Given the description of an element on the screen output the (x, y) to click on. 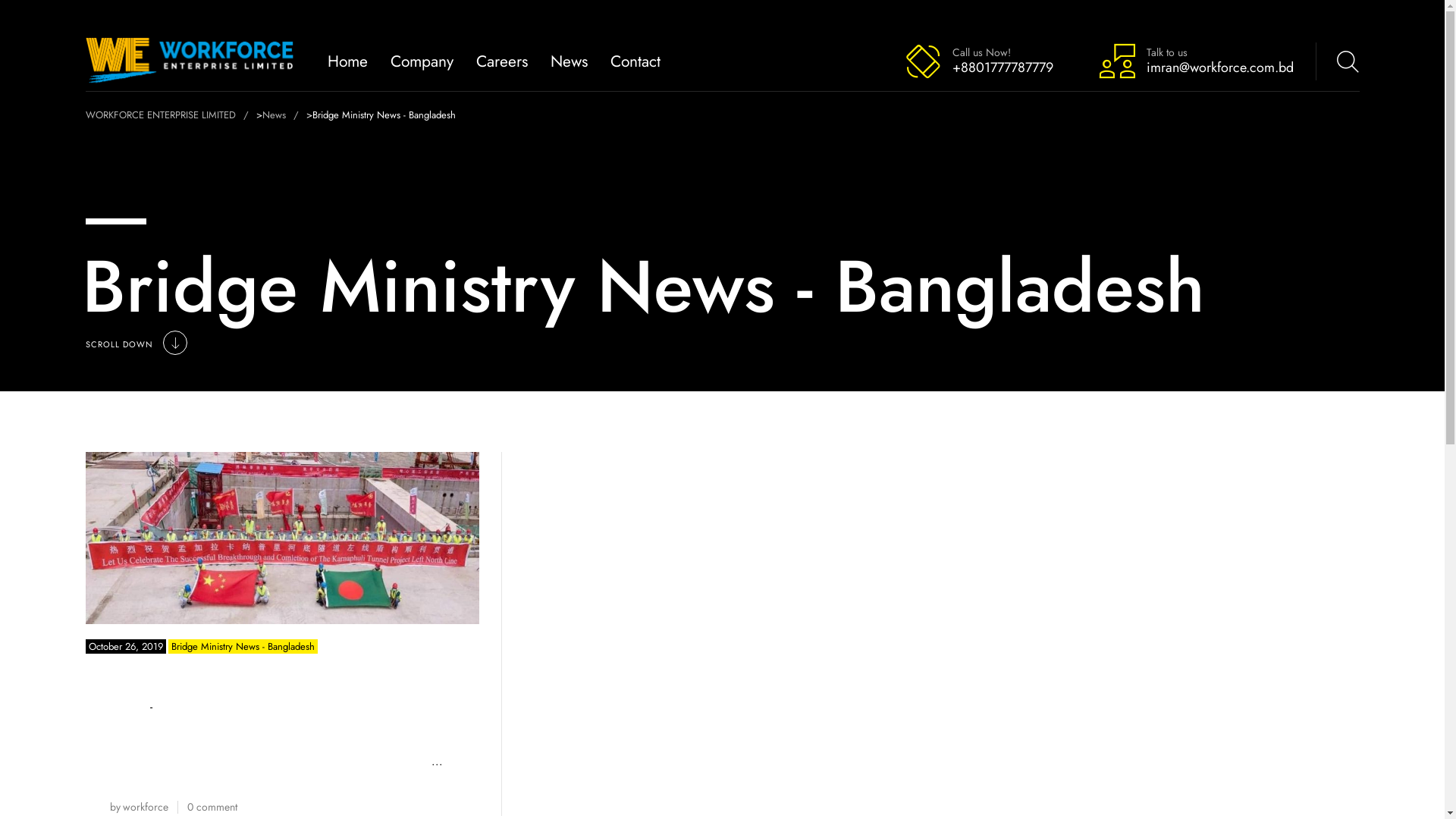
Contact Element type: text (635, 60)
Company Element type: text (421, 60)
WORKFORCE ENTERPRISE LIMITED Element type: text (169, 115)
Careers Element type: text (501, 60)
News Element type: text (284, 115)
Talk to us
imran@workforce.com.bd Element type: text (1195, 60)
workforce Element type: text (145, 806)
0 comment Element type: text (211, 806)
SCROLL DOWN Element type: text (135, 344)
Search Element type: text (1304, 52)
Bridge Ministry News - Bangladesh Element type: text (242, 646)
News Element type: text (568, 60)
Call us Now!
+8801777787779 Element type: text (977, 60)
Home Element type: text (347, 60)
Search Element type: text (1328, 60)
cccc Element type: hover (281, 537)
